Given the description of an element on the screen output the (x, y) to click on. 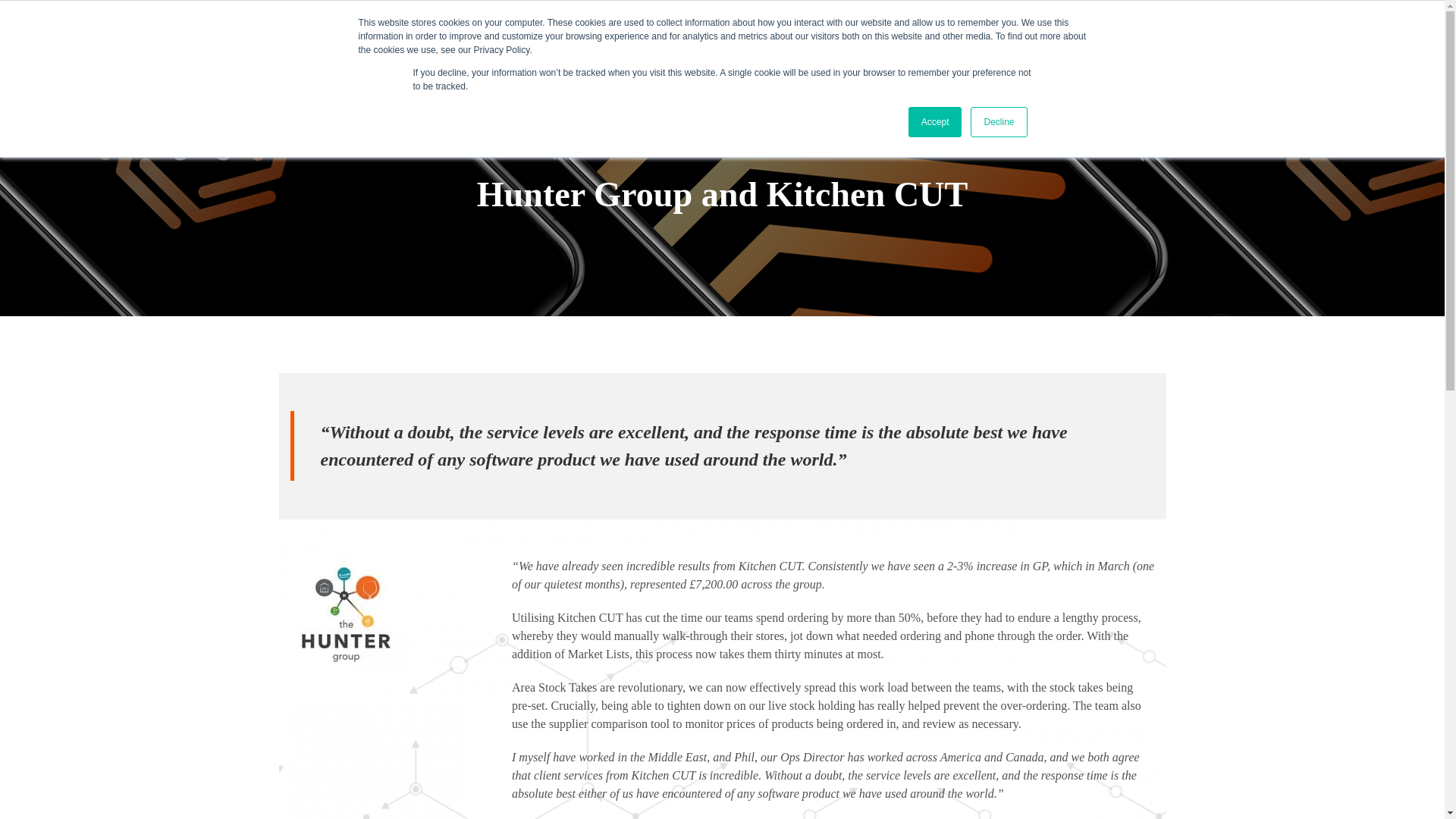
Hunter group (346, 613)
Blog (782, 45)
Services (697, 45)
BLOG (782, 45)
SOLUTIONS (583, 45)
Decline (998, 122)
Accept (935, 122)
Solutions (583, 45)
TRY NOW (1357, 44)
Gateway (864, 45)
Product (472, 45)
PRODUCT (472, 45)
SERVICES (697, 45)
GATEWAY (864, 45)
